Given the description of an element on the screen output the (x, y) to click on. 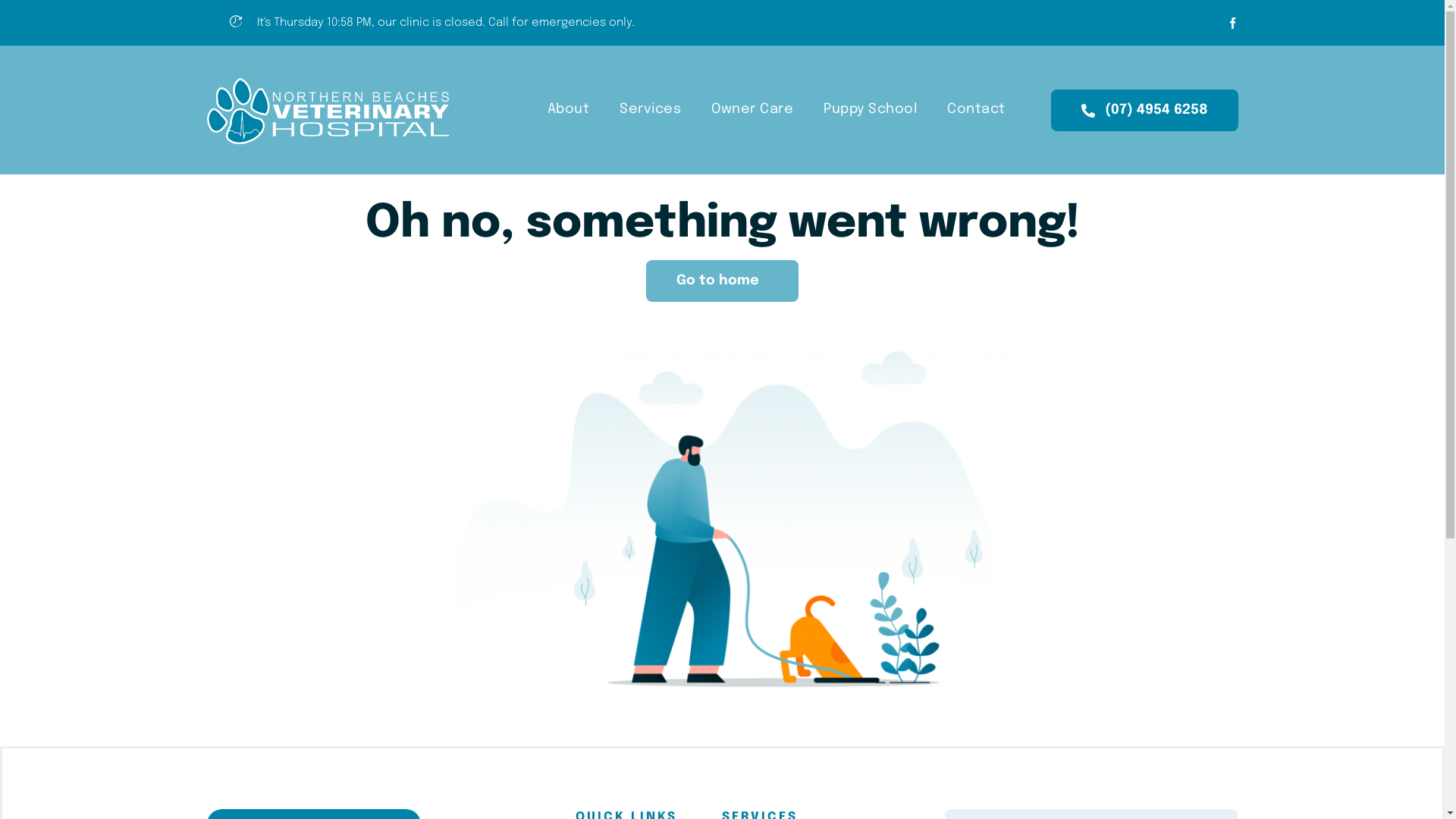
Owner Care Element type: text (752, 109)
About Element type: text (568, 109)
Services Element type: text (649, 109)
Contact Element type: text (976, 109)
(07) 4954 6258 Element type: text (1144, 110)
Go to home Element type: text (722, 280)
404nb Element type: hover (722, 518)
Puppy School Element type: text (869, 109)
